Given the description of an element on the screen output the (x, y) to click on. 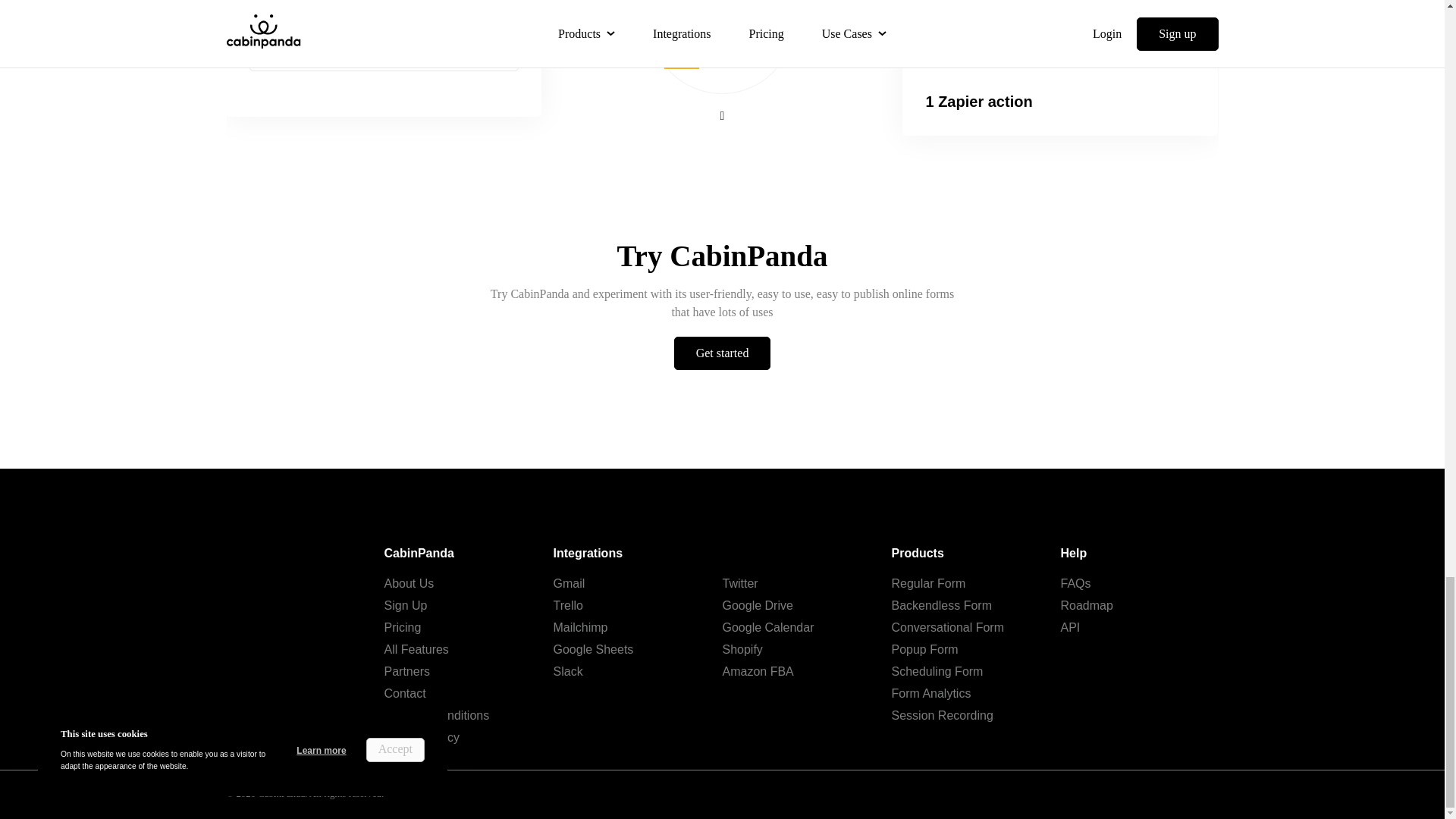
Trello (568, 604)
Privacy Policy (422, 737)
Sign Up (405, 604)
Mailchimp (580, 626)
Pricing (402, 626)
Contact (404, 693)
All Features (416, 649)
Google Sheets (593, 649)
Partners (406, 671)
About Us (408, 583)
Gmail (569, 583)
Slack (568, 671)
Get started (722, 353)
